Given the description of an element on the screen output the (x, y) to click on. 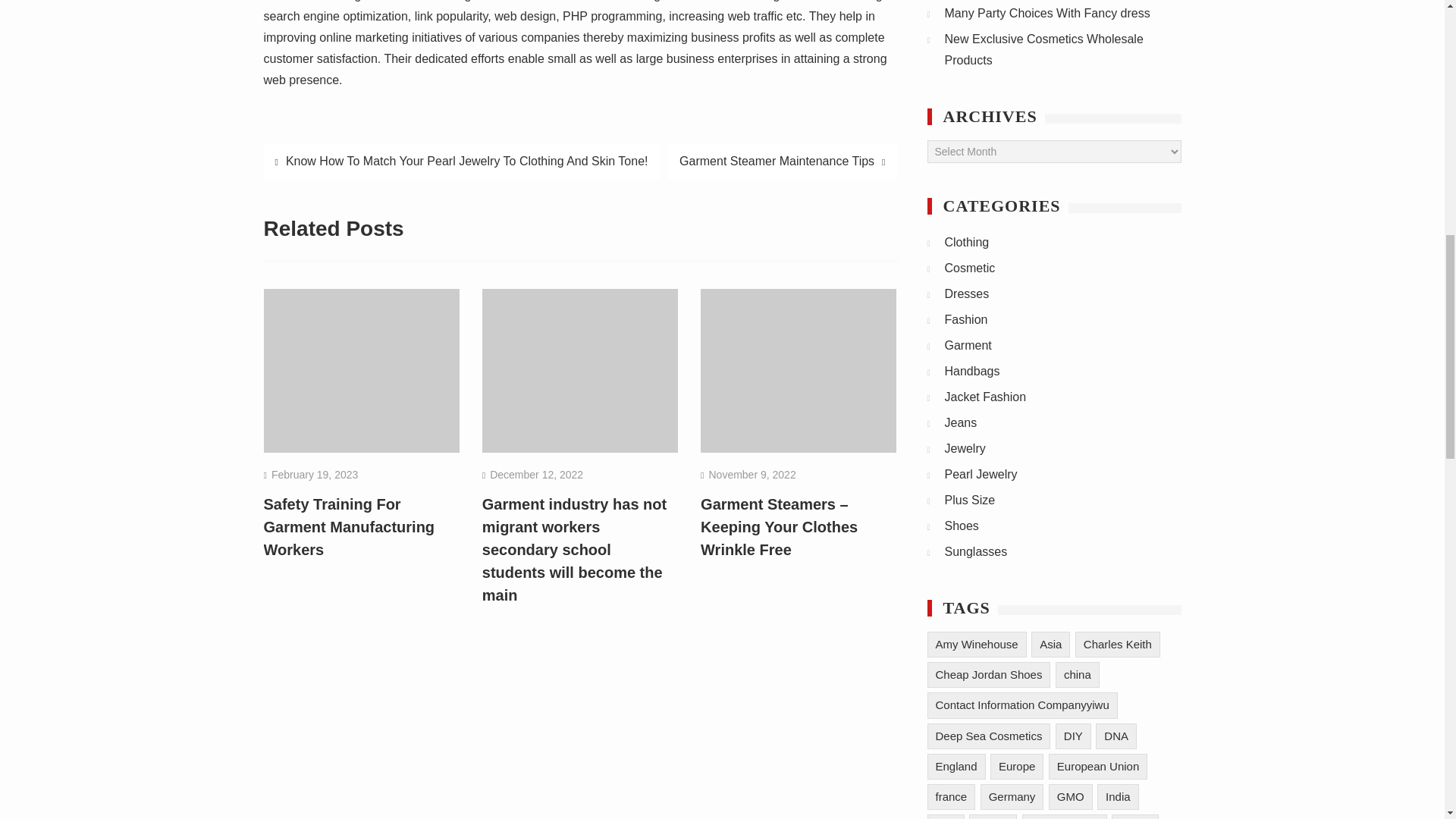
Safety Training For Garment Manufacturing Workers (349, 526)
Garment Steamer Maintenance Tips (782, 161)
